Given the description of an element on the screen output the (x, y) to click on. 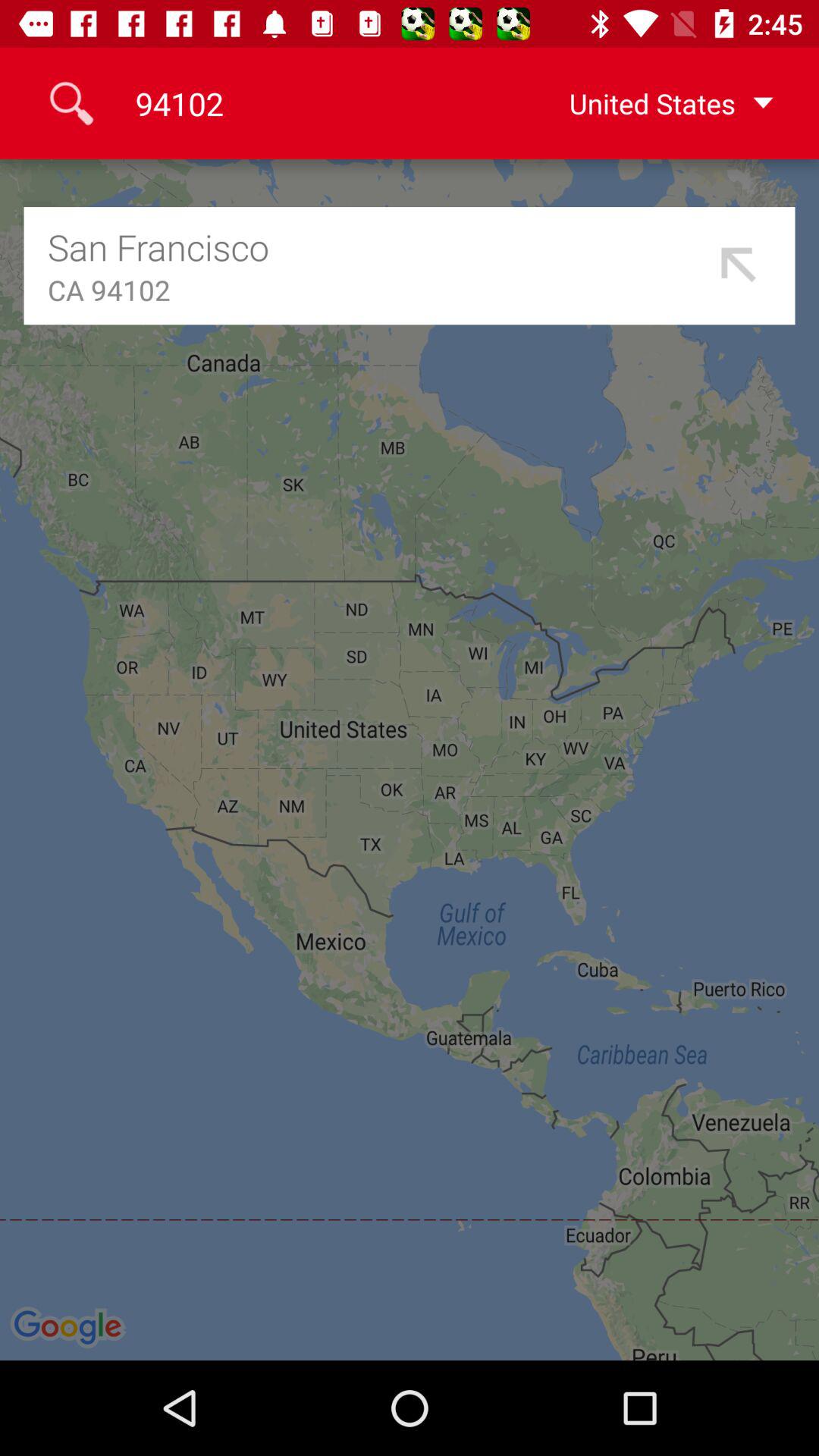
launch item to the right of san francisco item (739, 265)
